Given the description of an element on the screen output the (x, y) to click on. 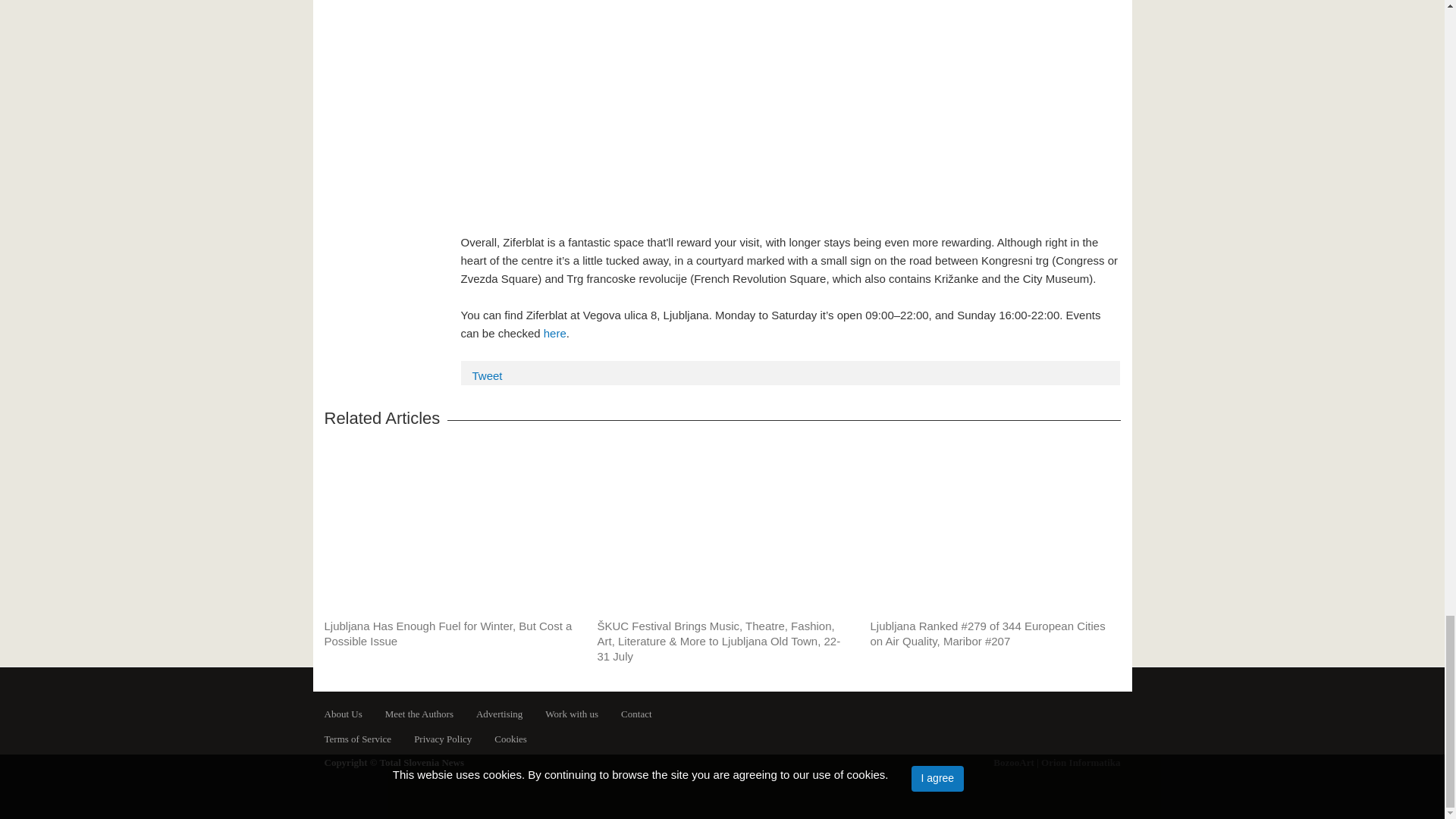
Meet the Authors (407, 714)
About Us (343, 714)
here (554, 332)
Tweet (486, 375)
